Given the description of an element on the screen output the (x, y) to click on. 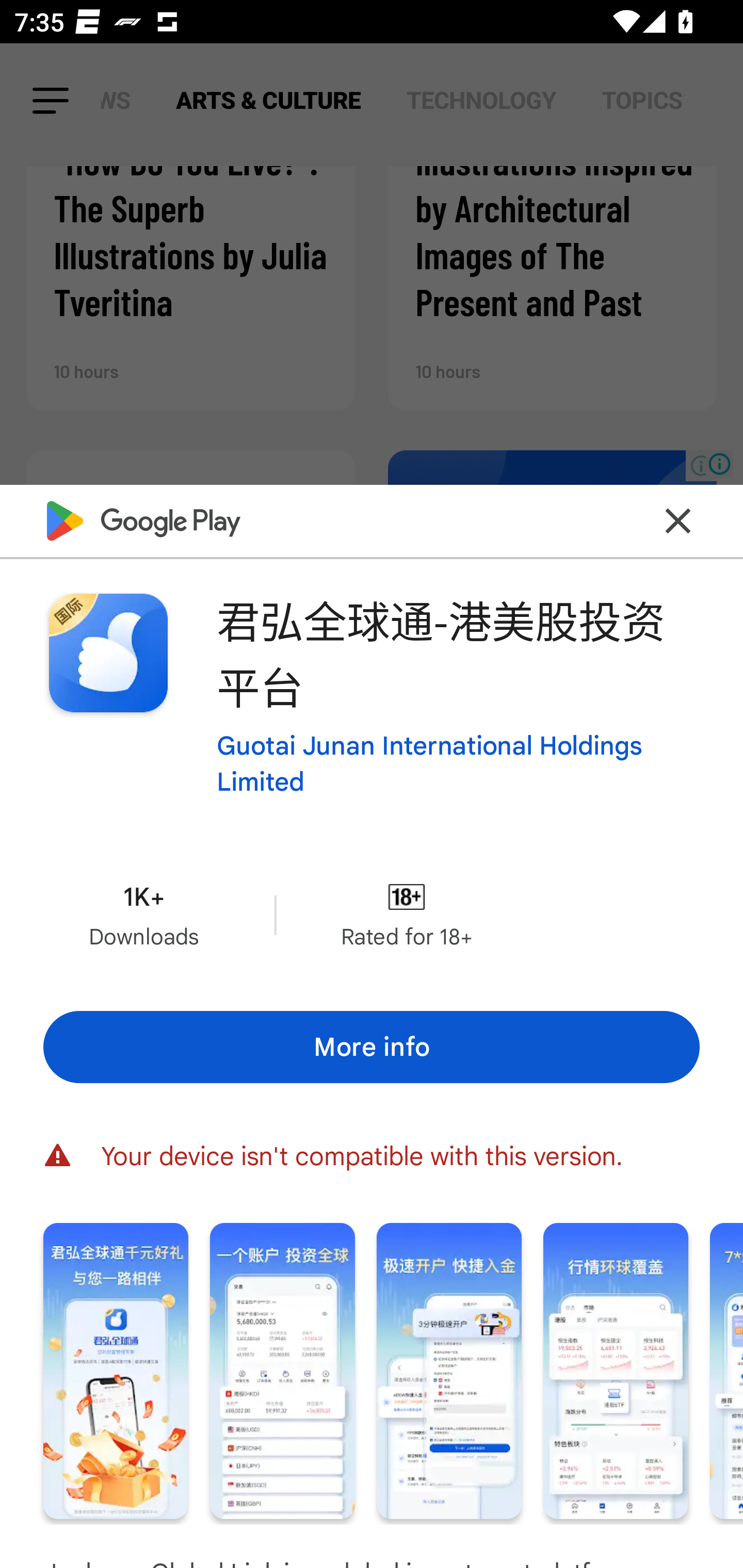
Close (677, 520)
Image of app or game icon for 君弘全球通-港美股投资平台 (108, 653)
Guotai Junan International Holdings Limited (457, 763)
More info (371, 1047)
Screenshot "1" of "6" (115, 1371)
Screenshot "2" of "6" (282, 1371)
Screenshot "3" of "6" (448, 1371)
Screenshot "4" of "6" (615, 1371)
Screenshot "5" of "6" (726, 1371)
